Given the description of an element on the screen output the (x, y) to click on. 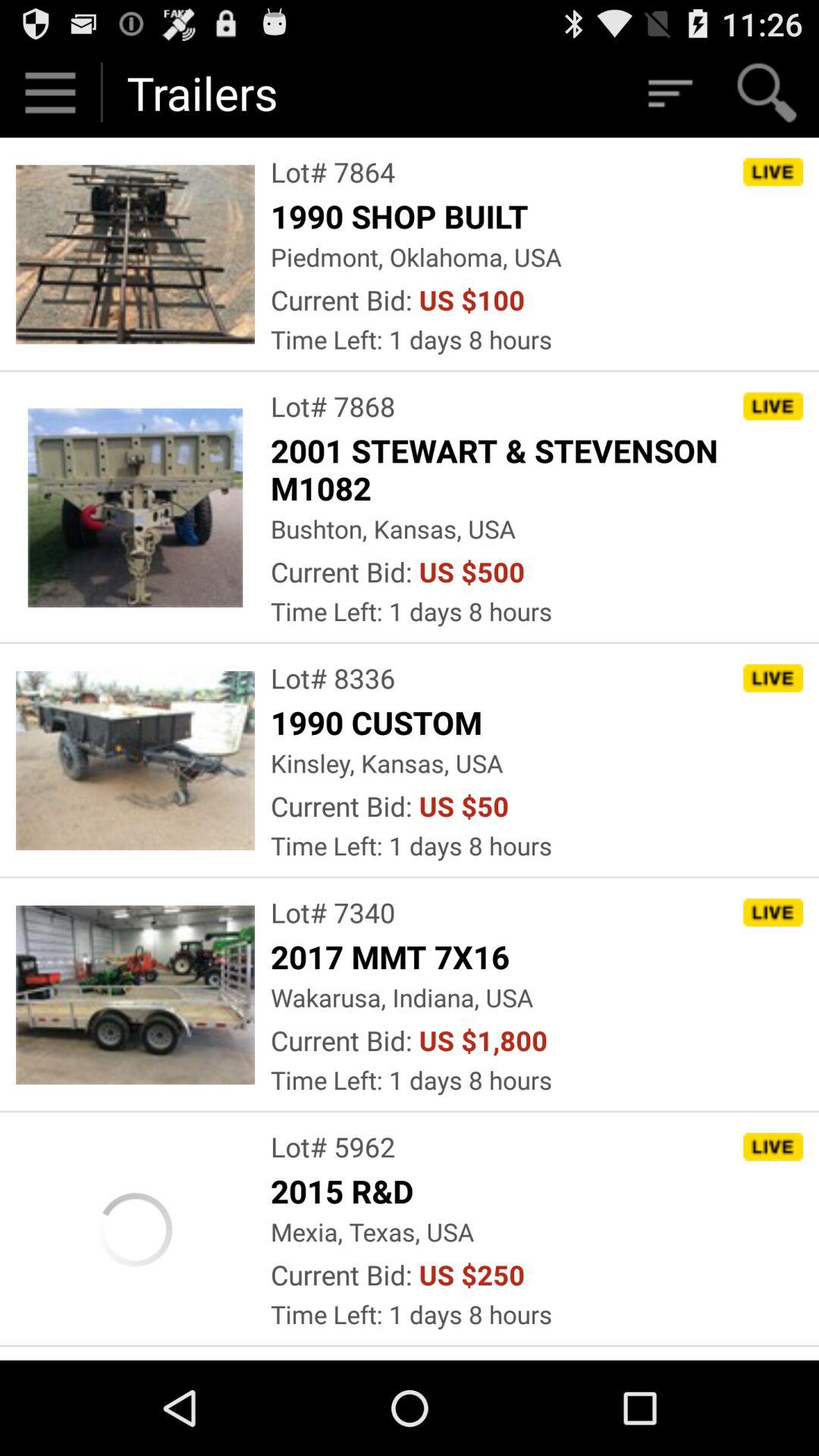
filter lots (668, 92)
